Given the description of an element on the screen output the (x, y) to click on. 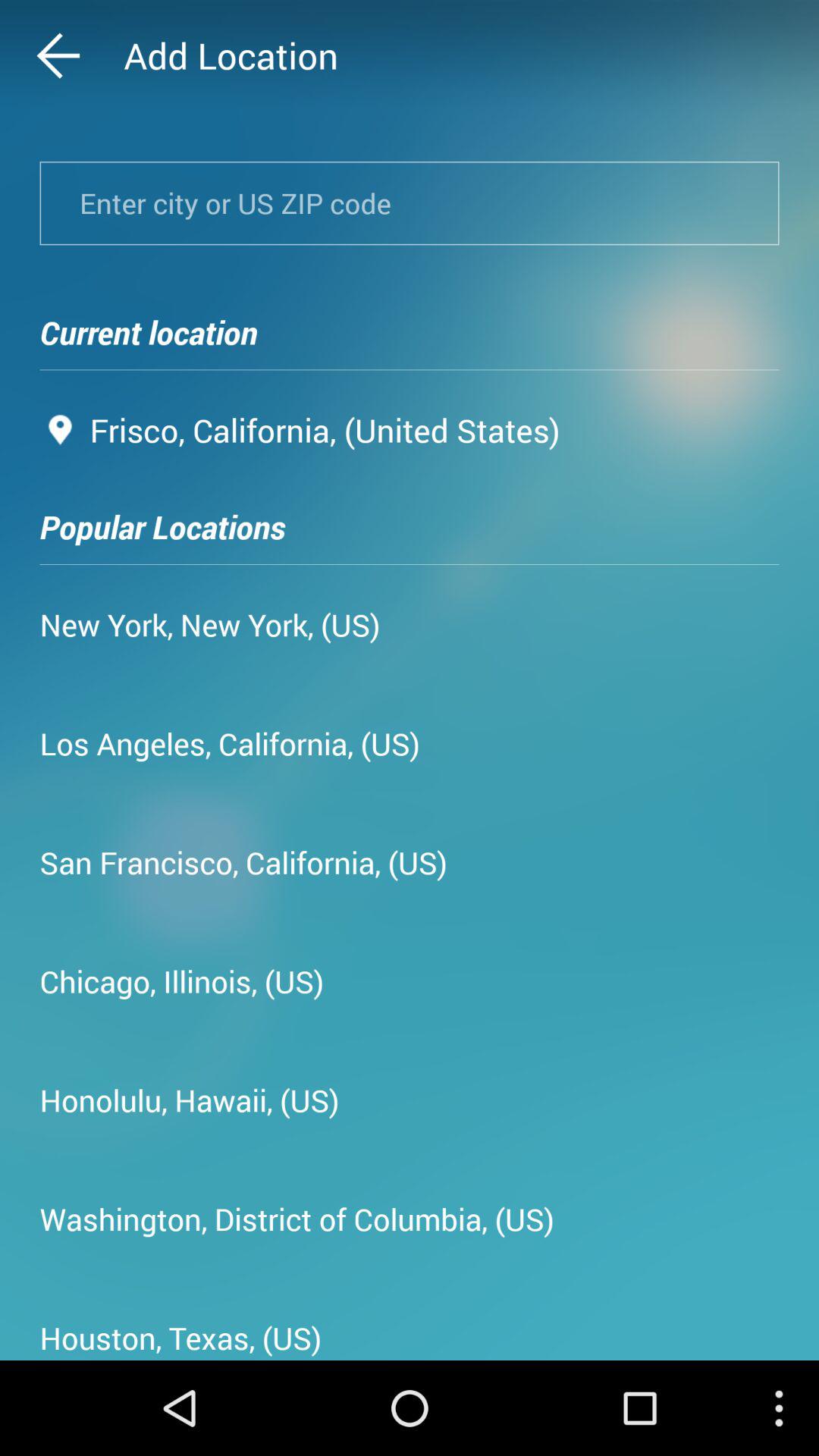
choose the item below honolulu, hawaii, (us) icon (297, 1218)
